Given the description of an element on the screen output the (x, y) to click on. 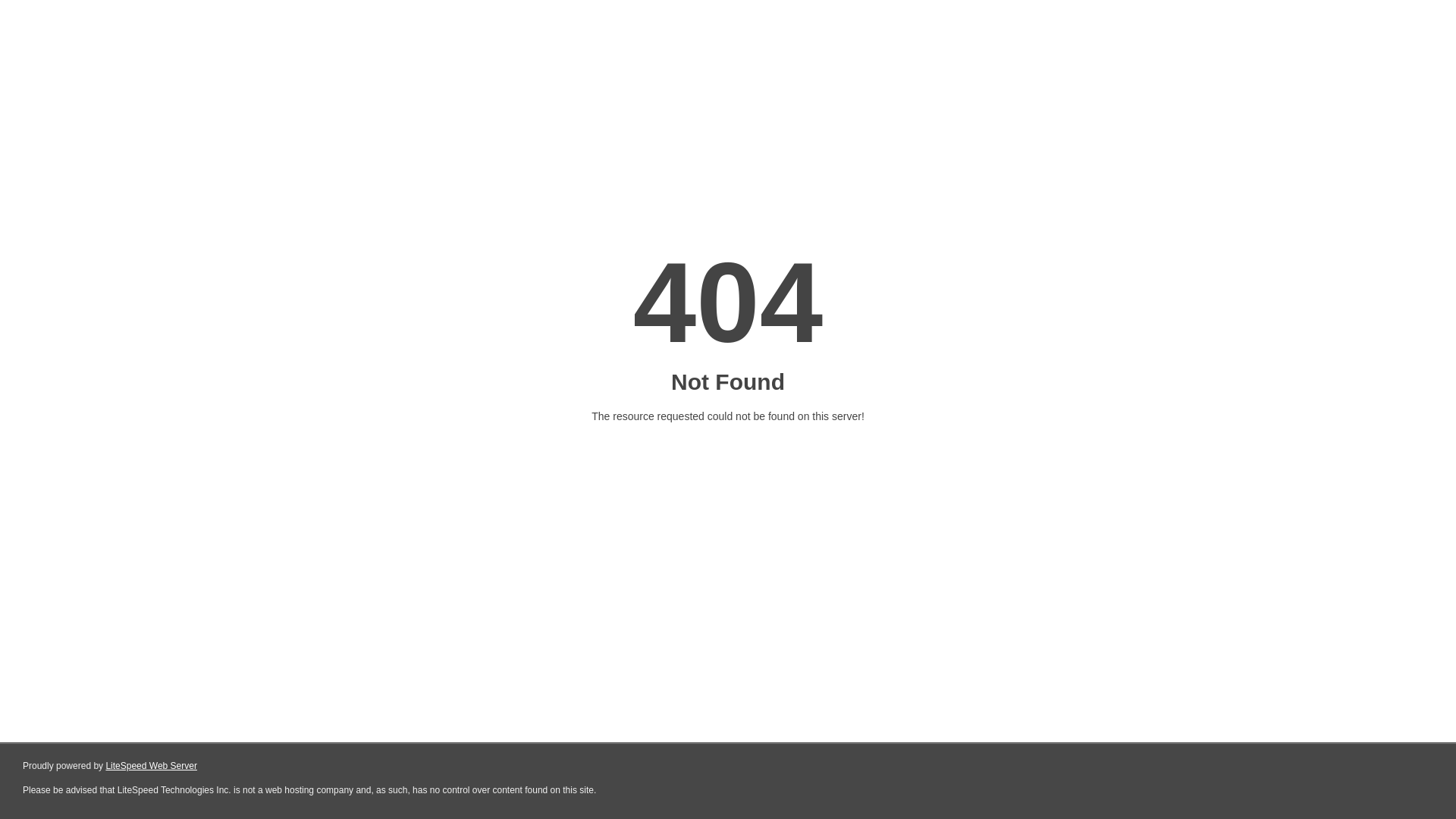
LiteSpeed Web Server Element type: text (151, 765)
